Given the description of an element on the screen output the (x, y) to click on. 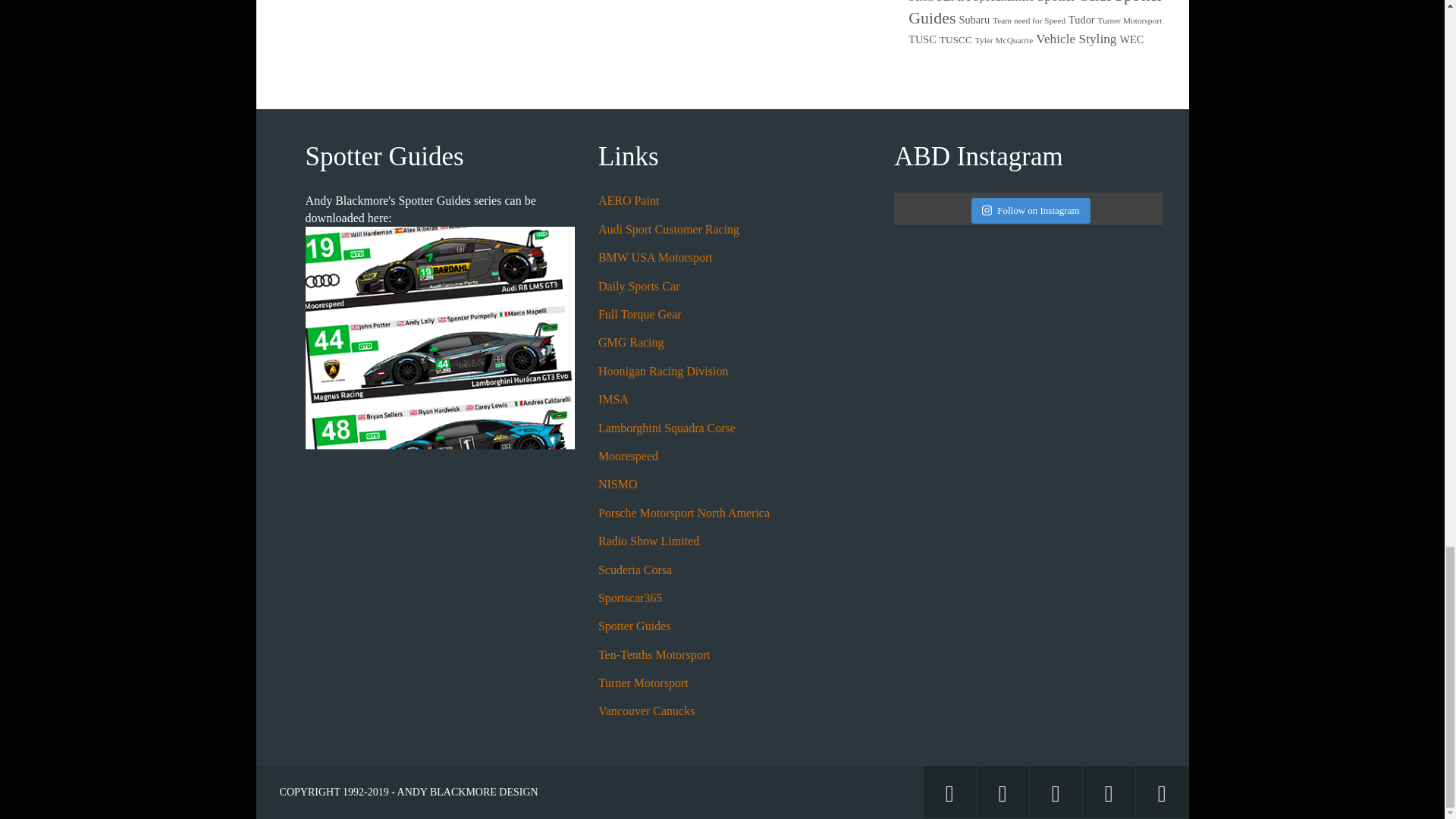
SportsCar 365 by John Dagys (630, 597)
Daily Sportscar (638, 286)
Spotter Guides for fans to download of popular race series (634, 625)
Radio Le Mans (648, 540)
